Given the description of an element on the screen output the (x, y) to click on. 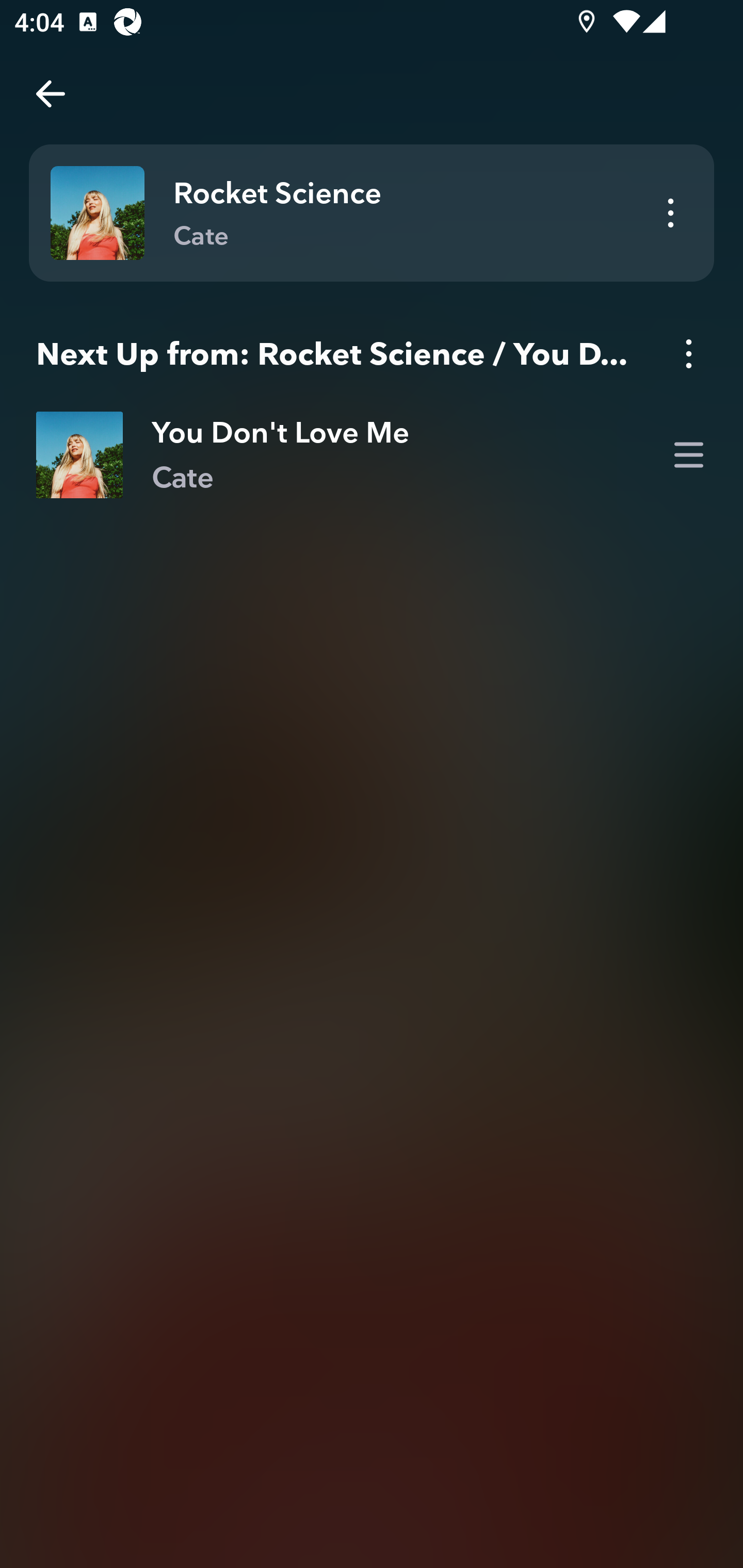
Rocket Science Cate (371, 213)
Options (688, 353)
You Don't Love Me Cate (371, 454)
